Given the description of an element on the screen output the (x, y) to click on. 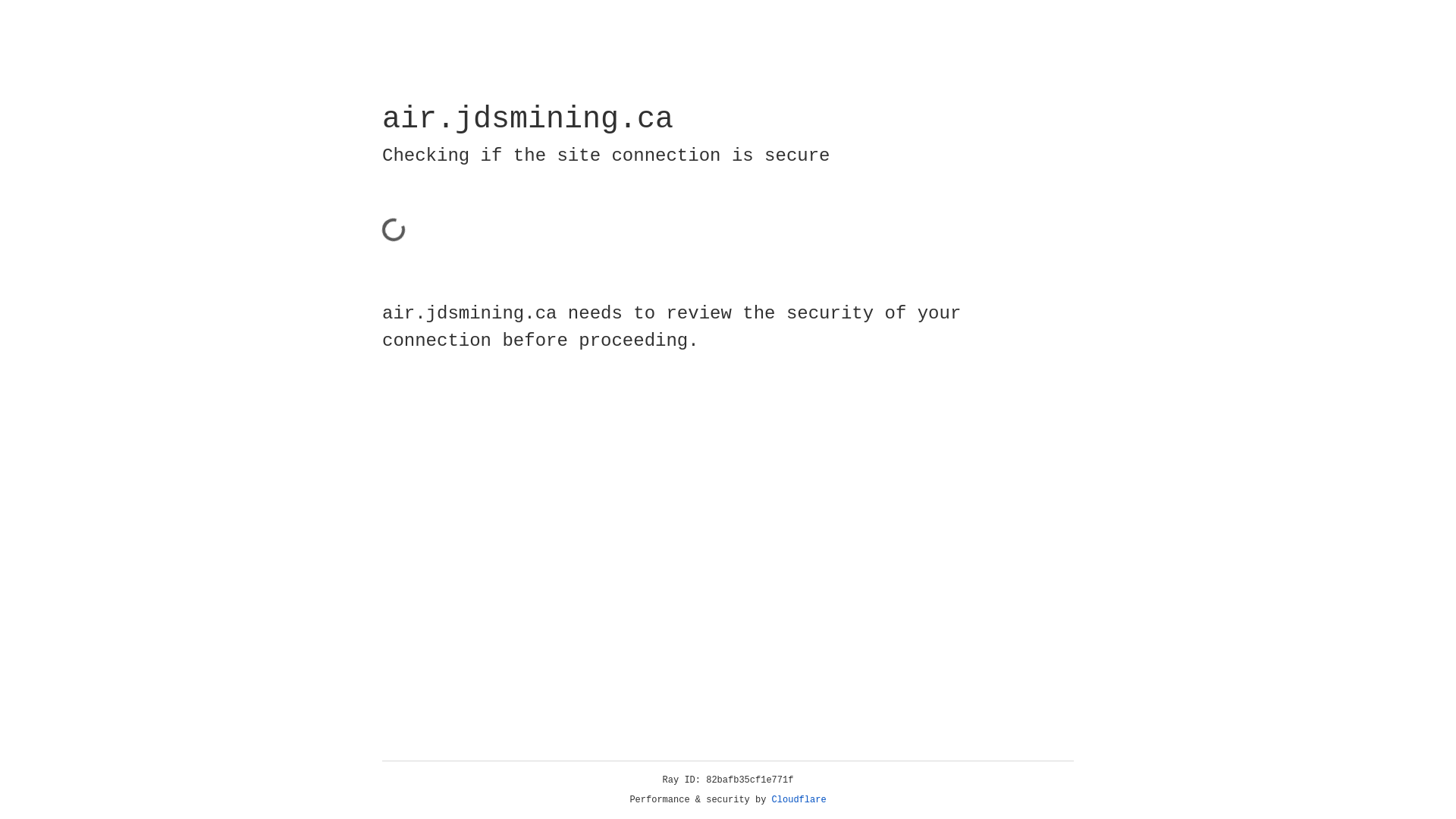
Cloudflare Element type: text (798, 799)
